Given the description of an element on the screen output the (x, y) to click on. 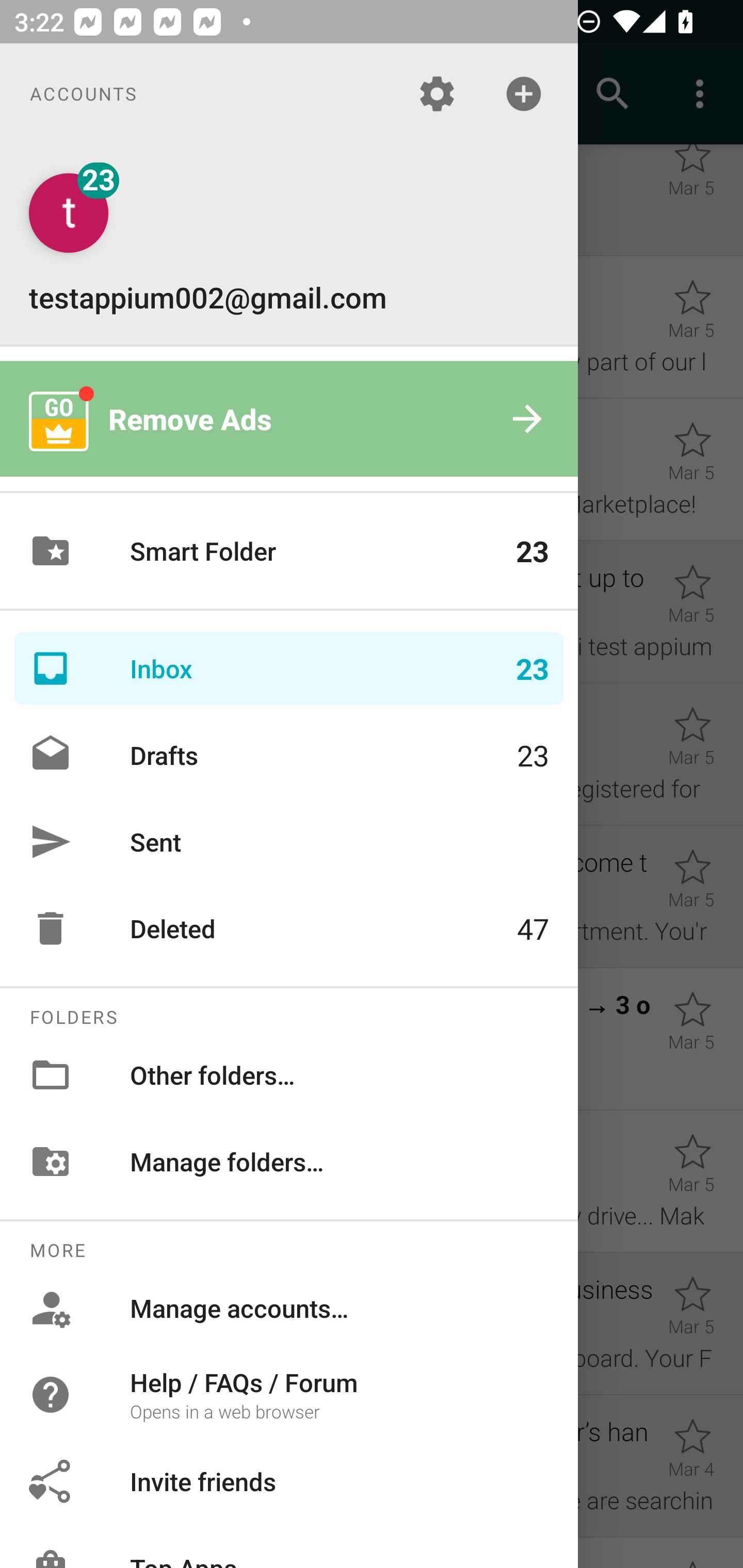
testappium002@gmail.com (289, 244)
Remove Ads (289, 418)
Smart Folder 23 (289, 551)
Inbox 23 (289, 668)
Drafts 23 (289, 754)
Sent (289, 841)
Deleted 47 (289, 928)
Other folders… (289, 1074)
Manage folders… (289, 1160)
Manage accounts… (289, 1308)
Help / FAQs / Forum Opens in a web browser (289, 1394)
Invite friends (289, 1480)
